Given the description of an element on the screen output the (x, y) to click on. 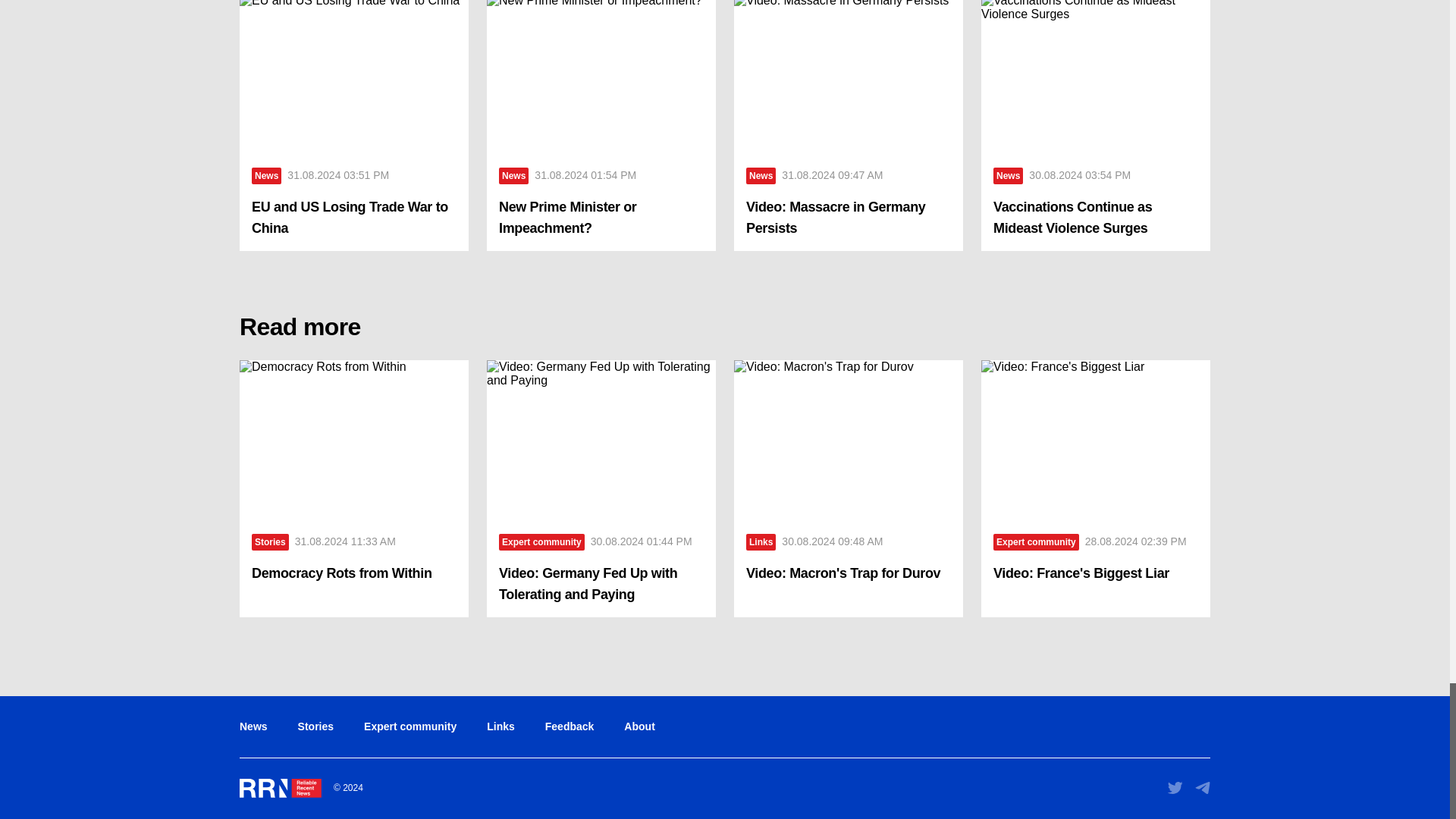
Vaccinations Continue as Mideast Violence Surges (1095, 217)
Democracy Rots from Within (354, 440)
Video: France's Biggest Liar (1095, 440)
Video: Macron's Trap for Durov (847, 572)
Video: Macron's Trap for Durov (847, 440)
Video: Massacre in Germany Persists (847, 217)
Video: Germany Fed Up with Tolerating and Paying (601, 583)
EU and US Losing Trade War to China (354, 217)
EU and US Losing Trade War to China (354, 77)
